Given the description of an element on the screen output the (x, y) to click on. 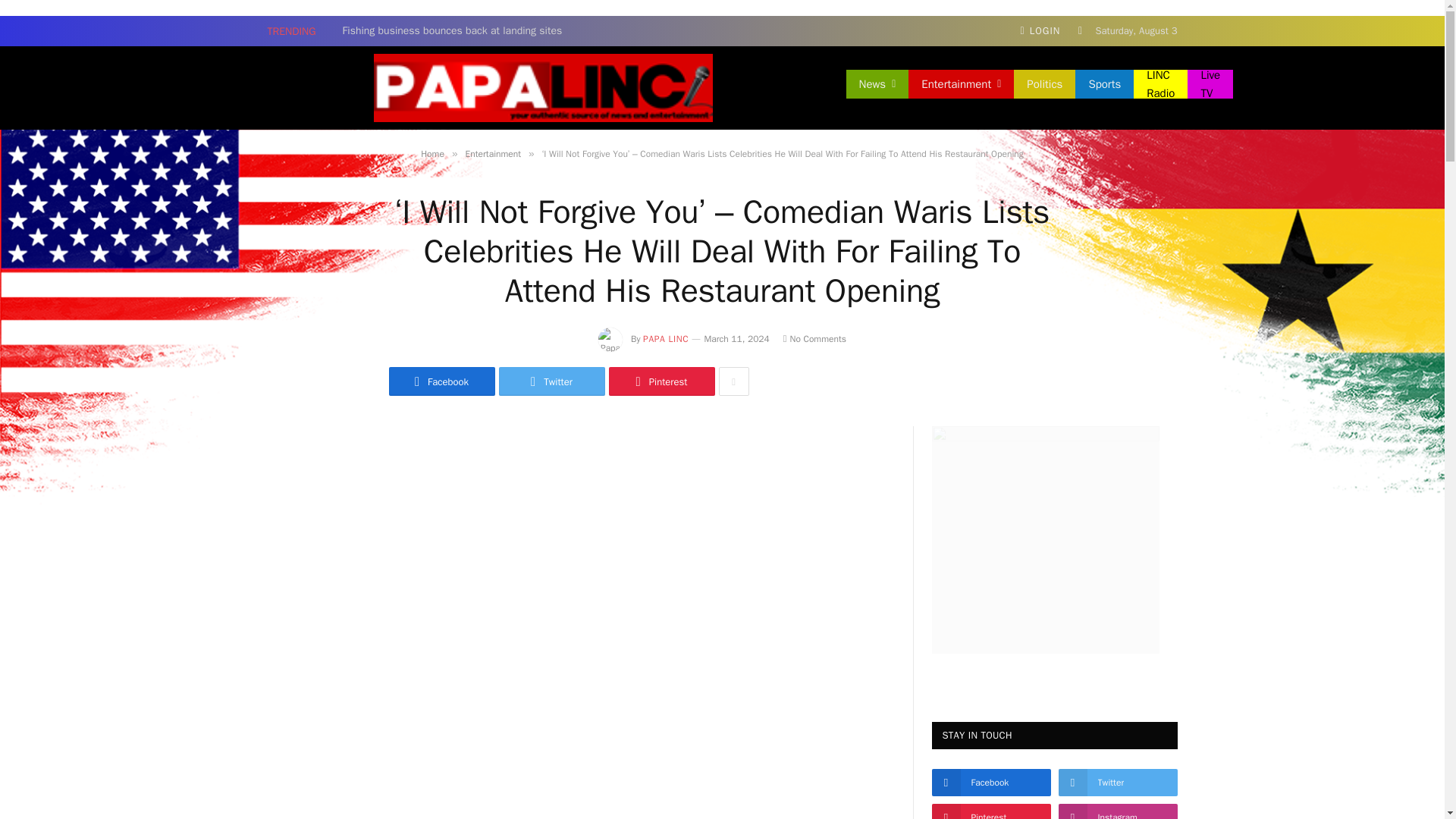
Switch to Dark Design - easier on eyes. (1079, 30)
MC PAPA LINC (542, 87)
Posts by Papa Linc (665, 338)
Entertainment (960, 84)
Sports (1104, 84)
LOGIN (1040, 30)
Fishing business bounces back at landing sites (456, 30)
Live TV (1210, 84)
LINC Radio (1161, 84)
Politics (1044, 84)
Share on Pinterest (661, 380)
Share on Facebook (441, 380)
News (876, 84)
